Given the description of an element on the screen output the (x, y) to click on. 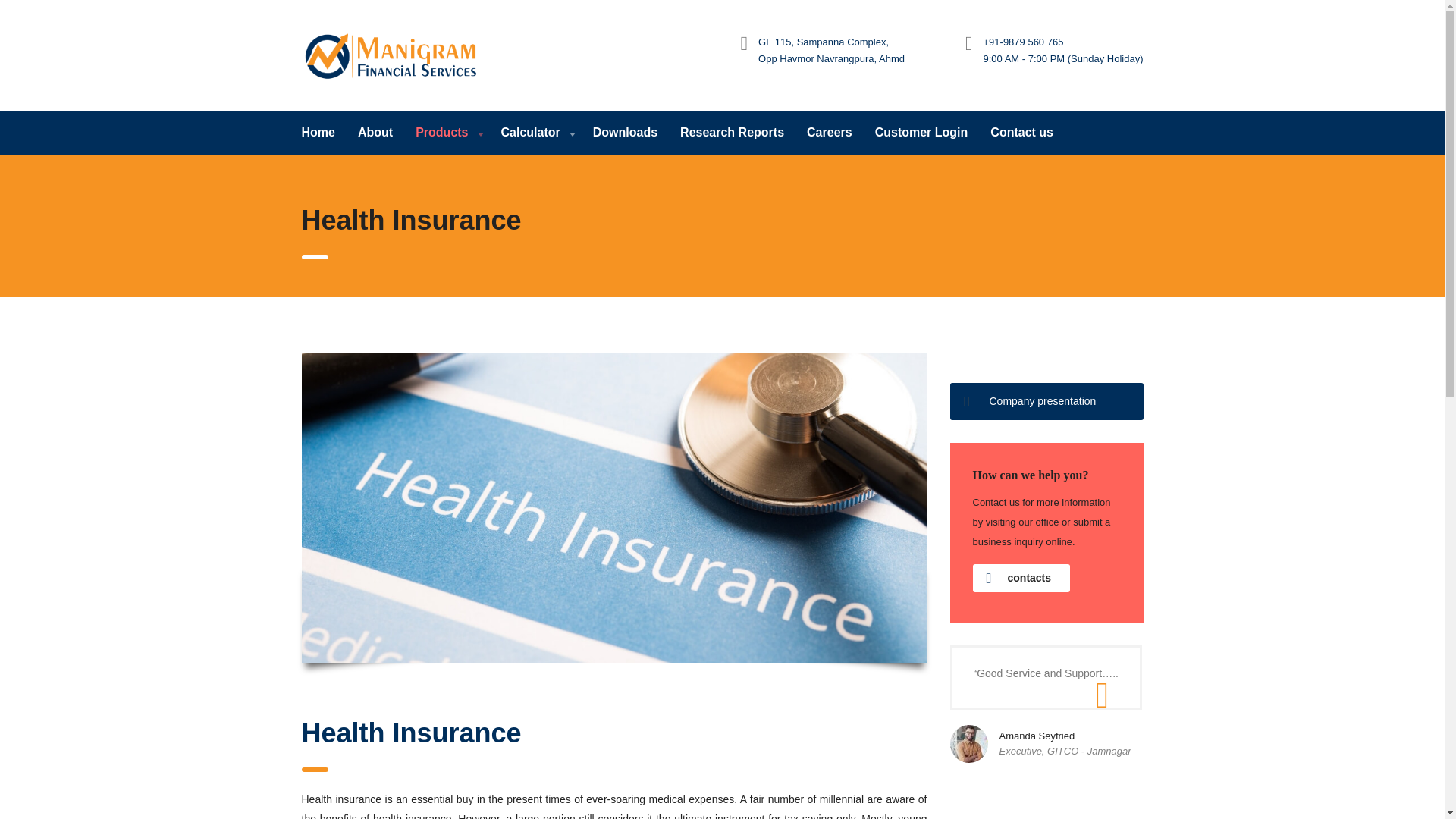
About (375, 132)
Customer Login (921, 132)
Company presentation (1045, 401)
Downloads (624, 132)
contacts (1021, 578)
Products (446, 132)
Calculator (534, 132)
Careers (828, 132)
Home (323, 132)
Research Reports (731, 132)
Contact us (1021, 132)
